Given the description of an element on the screen output the (x, y) to click on. 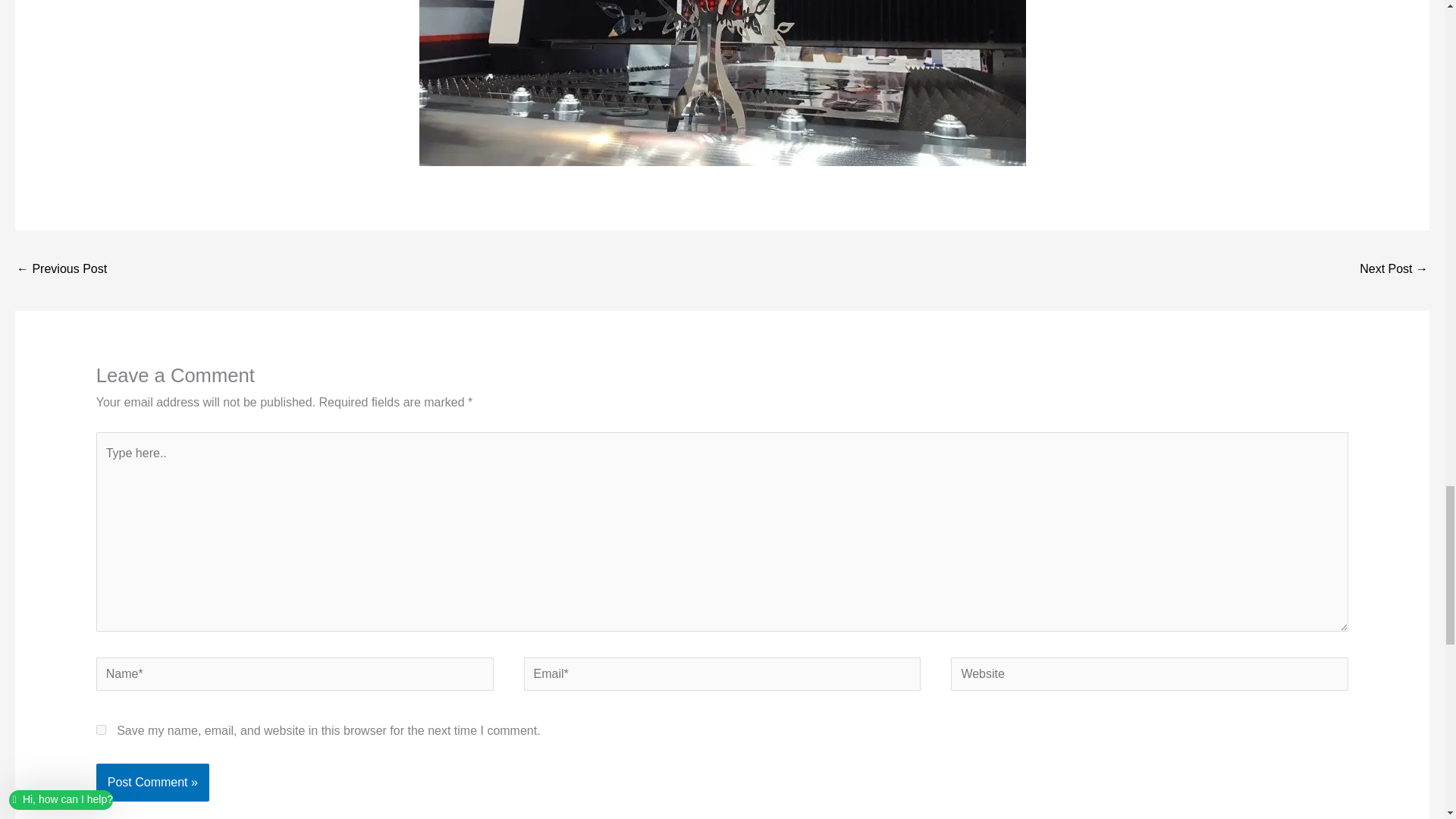
yes (101, 729)
Fiber Laser Cutting Machine Export Greece (61, 270)
